Given the description of an element on the screen output the (x, y) to click on. 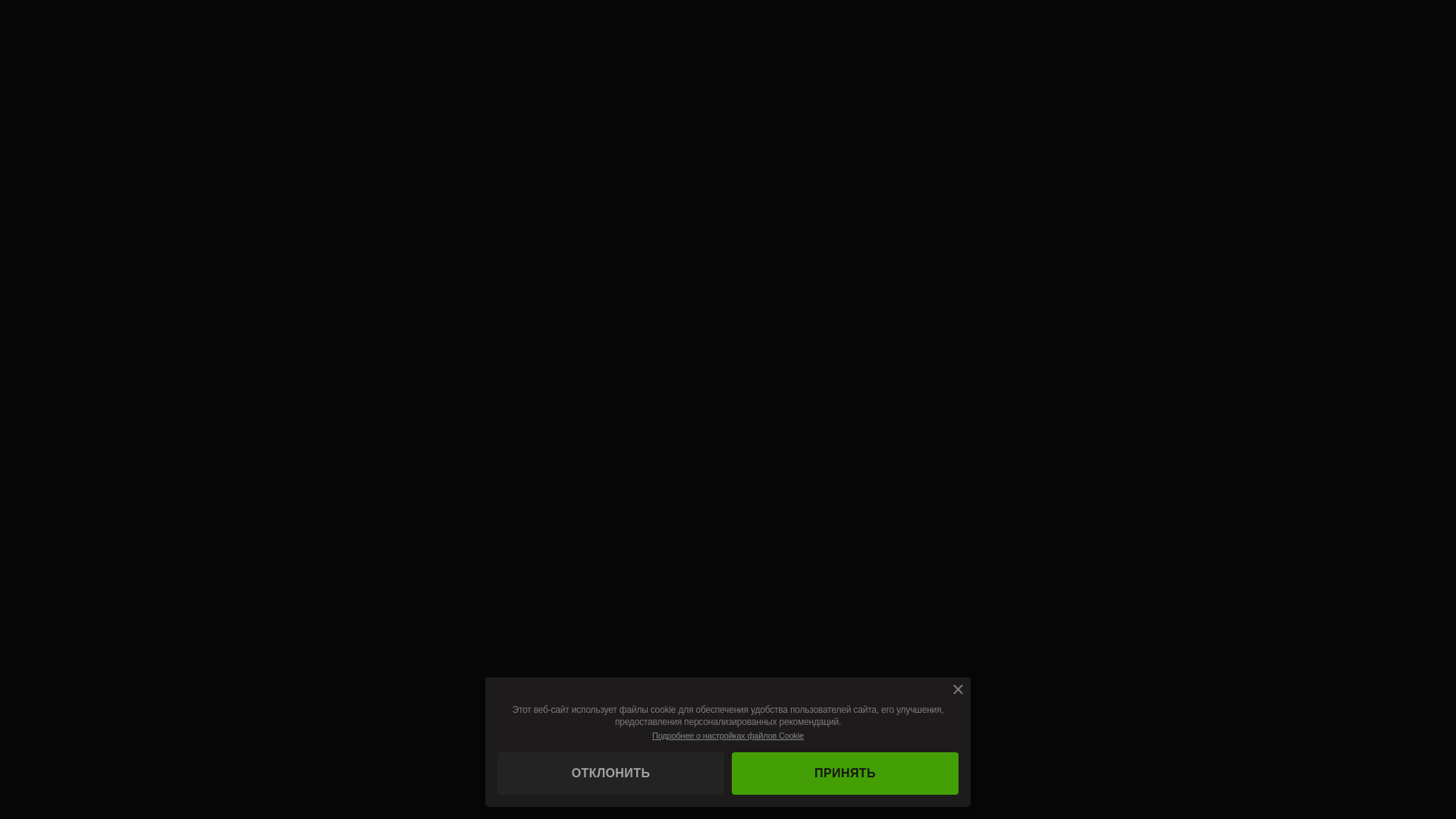
storage Element type: hover (0, 0)
